Given the description of an element on the screen output the (x, y) to click on. 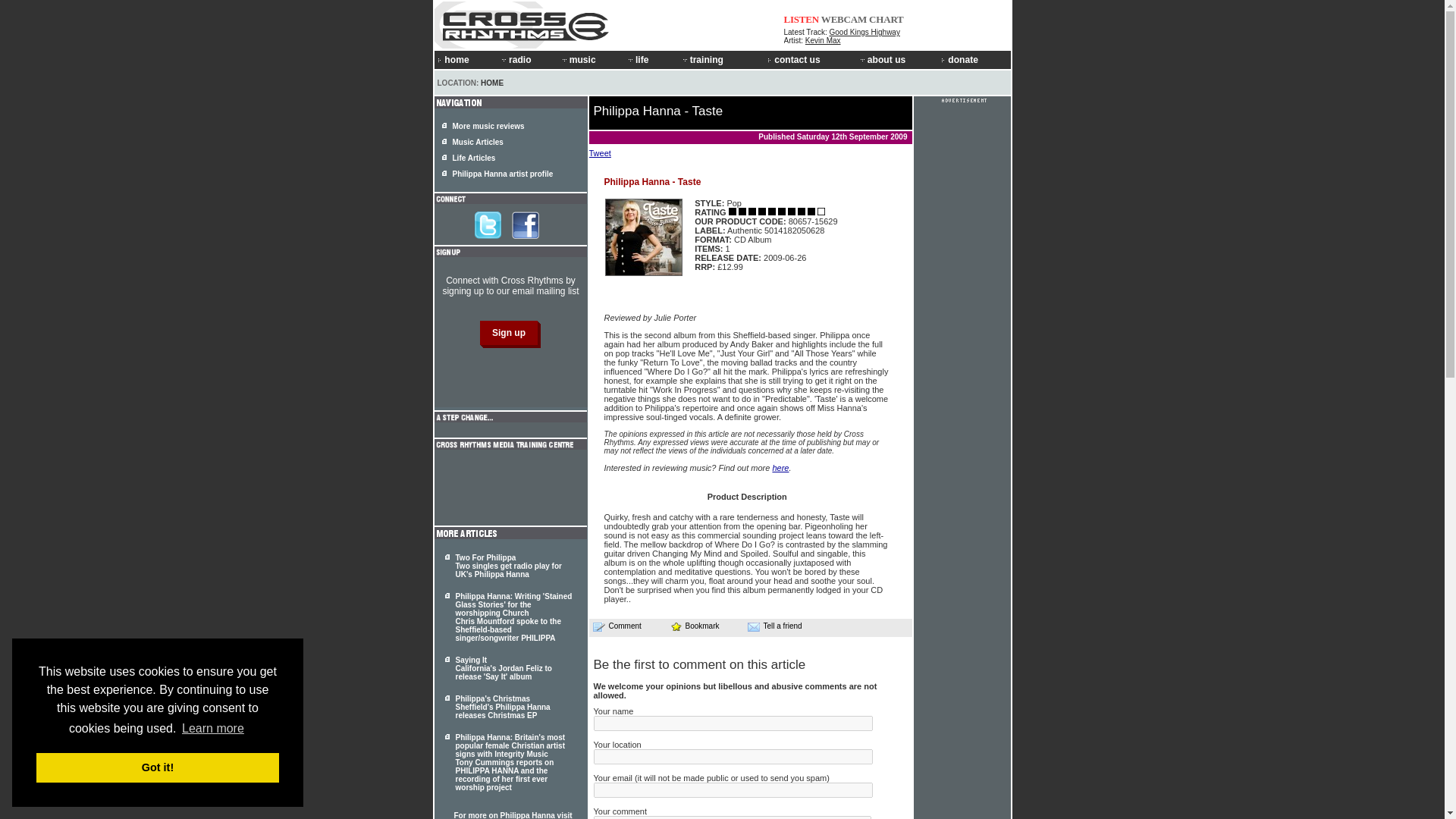
home (466, 59)
training (723, 59)
9 (732, 211)
9 (741, 211)
about us (898, 59)
9 (751, 211)
9 (772, 211)
LISTEN (801, 19)
Sign up (508, 332)
9 (801, 211)
Learn more (212, 728)
music (591, 59)
9 (811, 211)
Got it! (157, 767)
Kevin Max (823, 40)
